Given the description of an element on the screen output the (x, y) to click on. 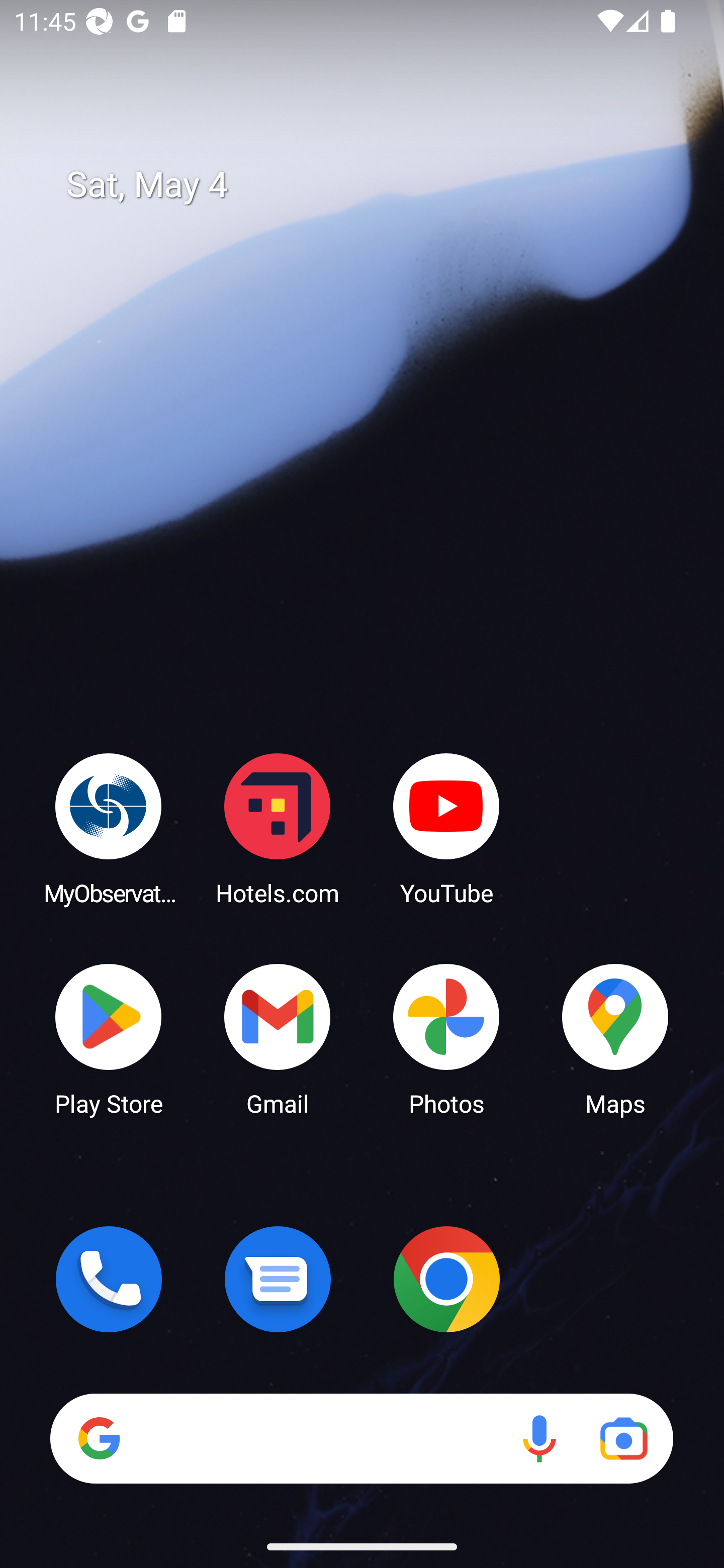
Sat, May 4 (375, 184)
MyObservatory (108, 828)
Hotels.com (277, 828)
YouTube (445, 828)
Play Store (108, 1038)
Gmail (277, 1038)
Photos (445, 1038)
Maps (615, 1038)
Phone (108, 1279)
Messages (277, 1279)
Chrome (446, 1279)
Search Voice search Google Lens (361, 1438)
Voice search (539, 1438)
Google Lens (623, 1438)
